Given the description of an element on the screen output the (x, y) to click on. 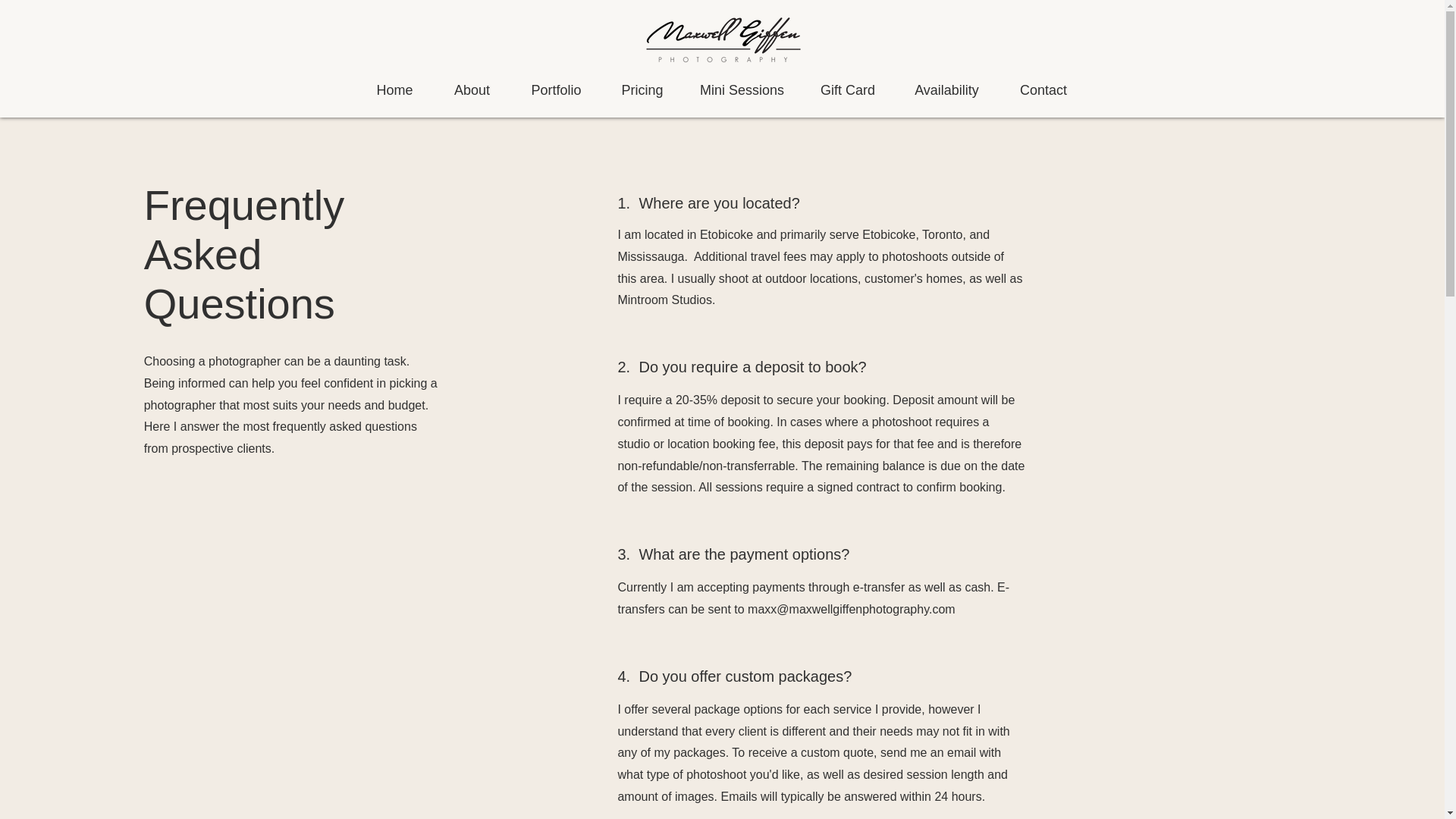
Gift Card (846, 89)
Pricing (642, 89)
About (472, 89)
Availability (946, 89)
Mini Sessions (741, 89)
Home (394, 89)
Contact (1042, 89)
Portfolio (556, 89)
